Given the description of an element on the screen output the (x, y) to click on. 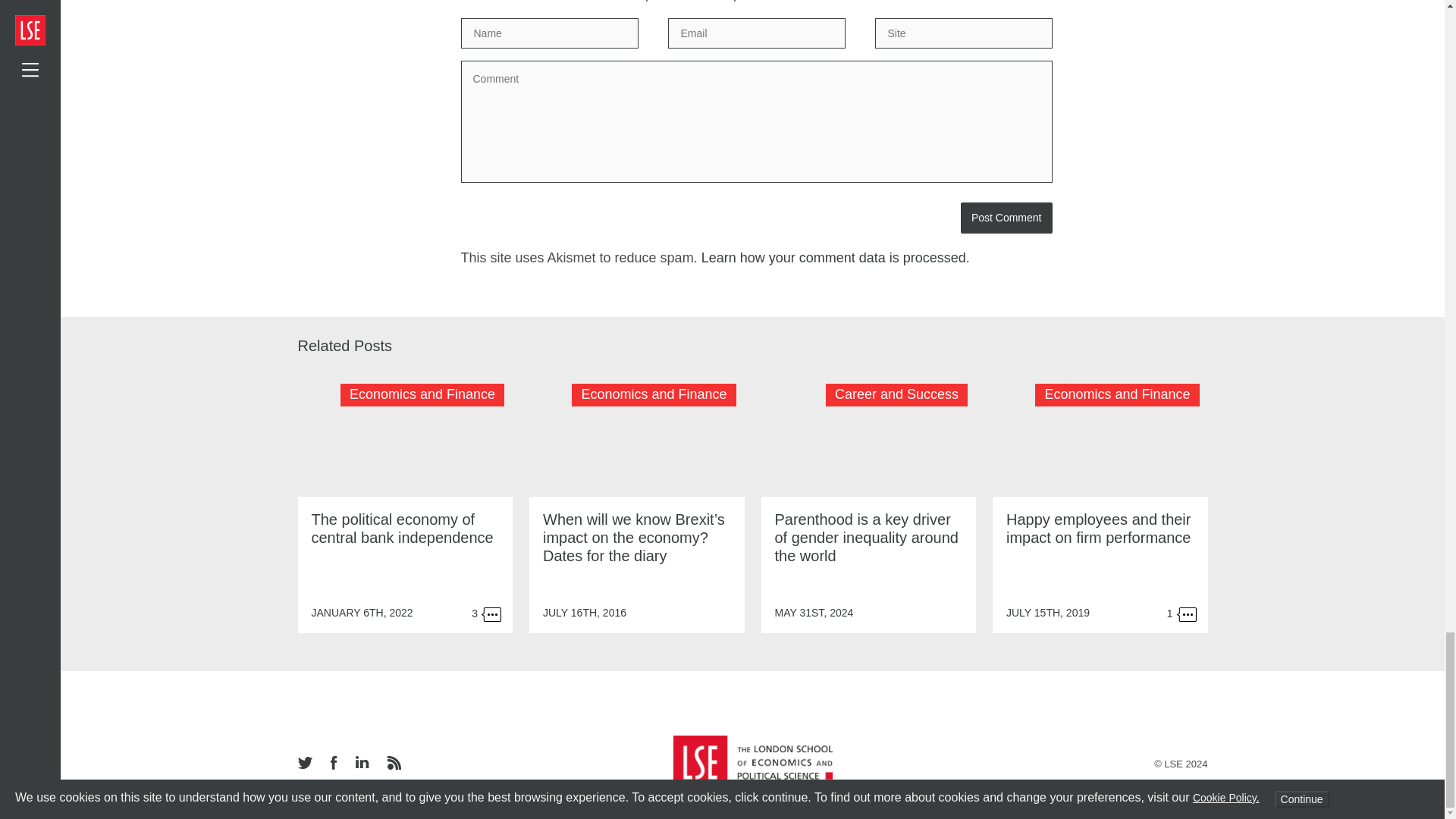
rss (393, 763)
Post Comment (1006, 217)
linkedin (361, 763)
